Given the description of an element on the screen output the (x, y) to click on. 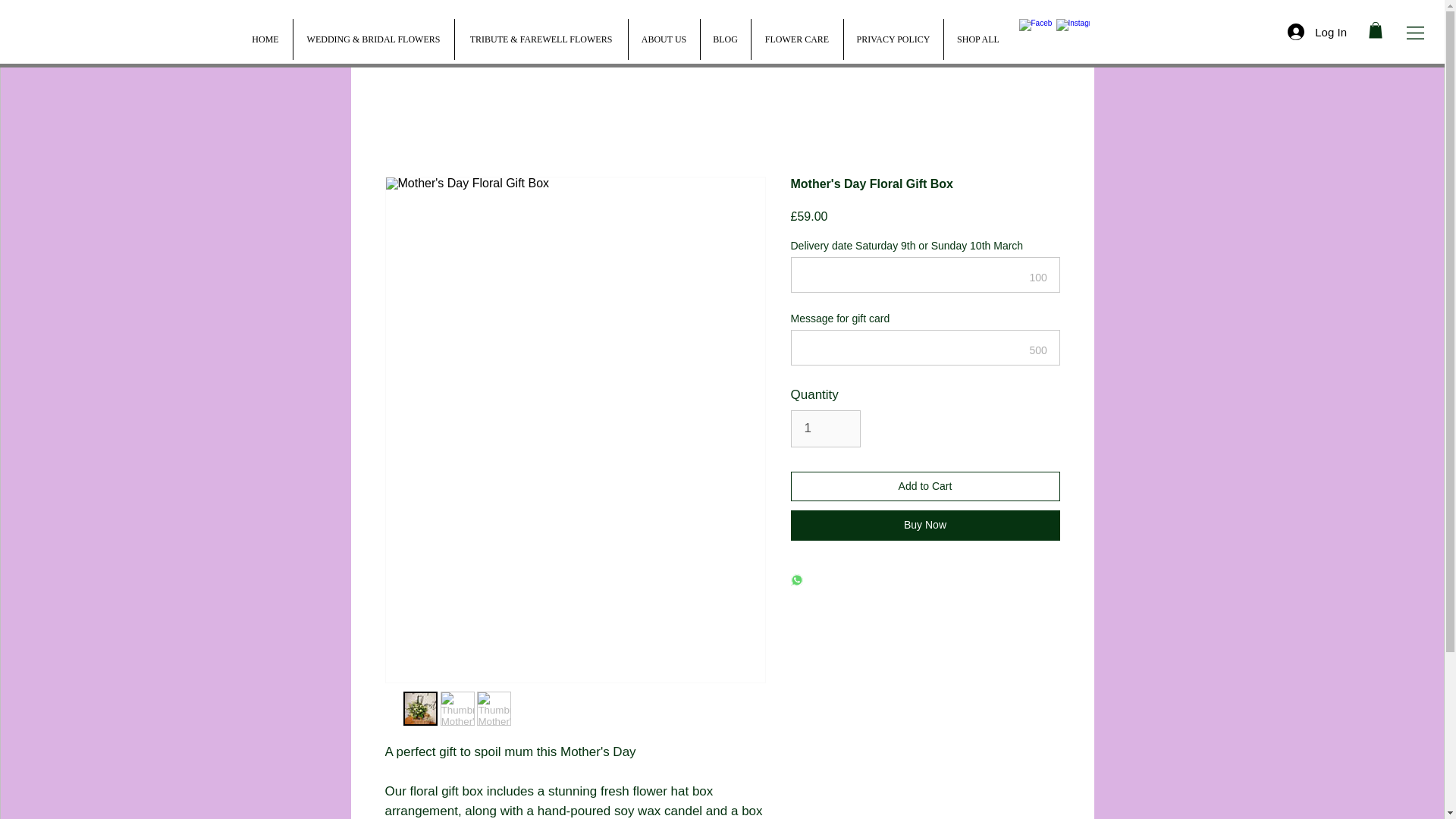
HOME (265, 38)
BLOG (723, 38)
ABOUT US (663, 38)
FLOWER CARE (797, 38)
PRIVACY POLICY (893, 38)
Add to Cart (924, 486)
SHOP ALL (978, 38)
Buy Now (924, 525)
1 (825, 428)
Log In (1316, 31)
